Given the description of an element on the screen output the (x, y) to click on. 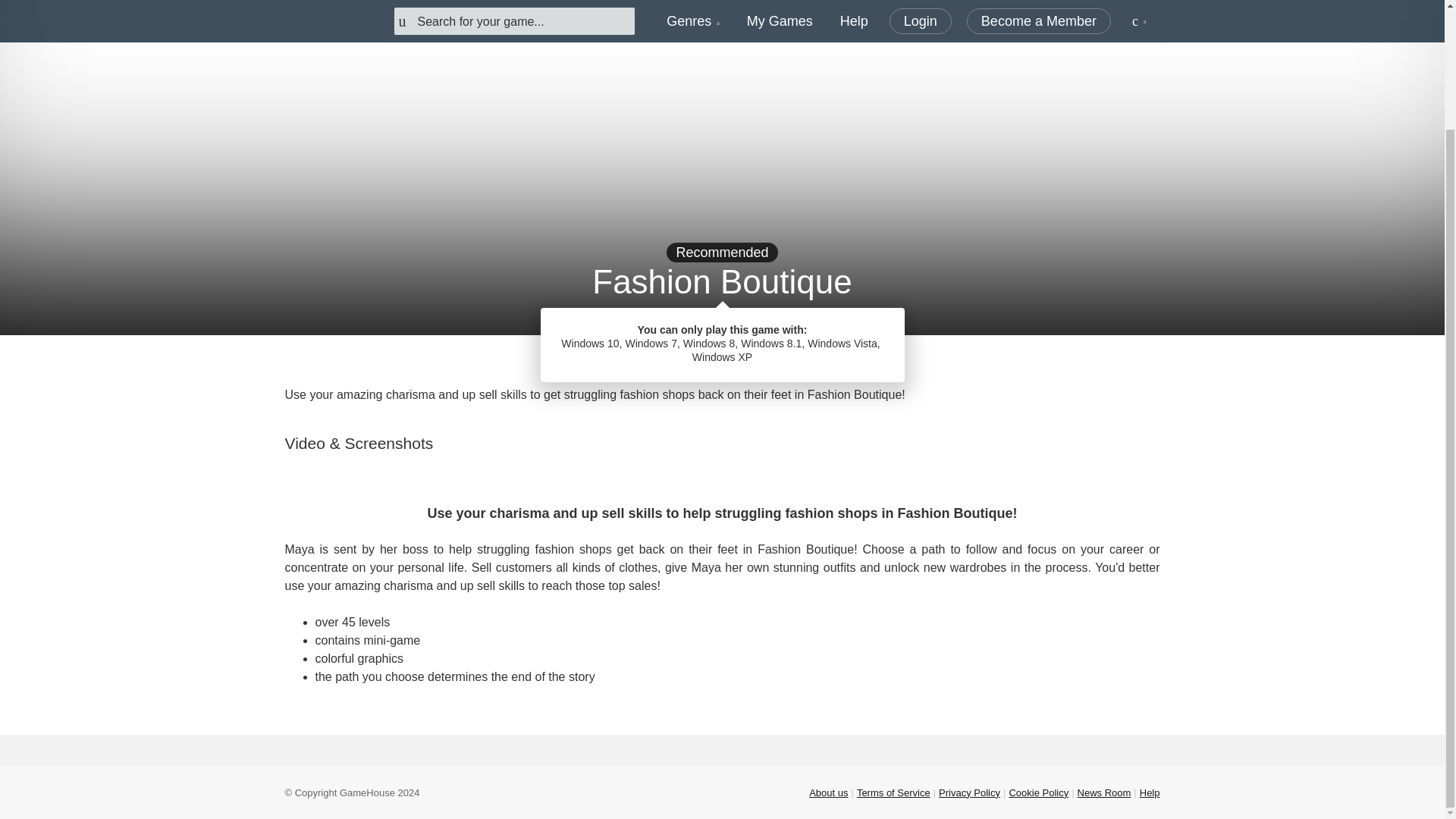
Help (1150, 792)
Help (1150, 792)
Terms of Service (893, 792)
Cookie Policy (1038, 792)
Time Management (658, 356)
Time Management (658, 356)
Windows Games (775, 356)
About us (828, 792)
Privacy Policy (969, 792)
Windows Games (775, 356)
